Given the description of an element on the screen output the (x, y) to click on. 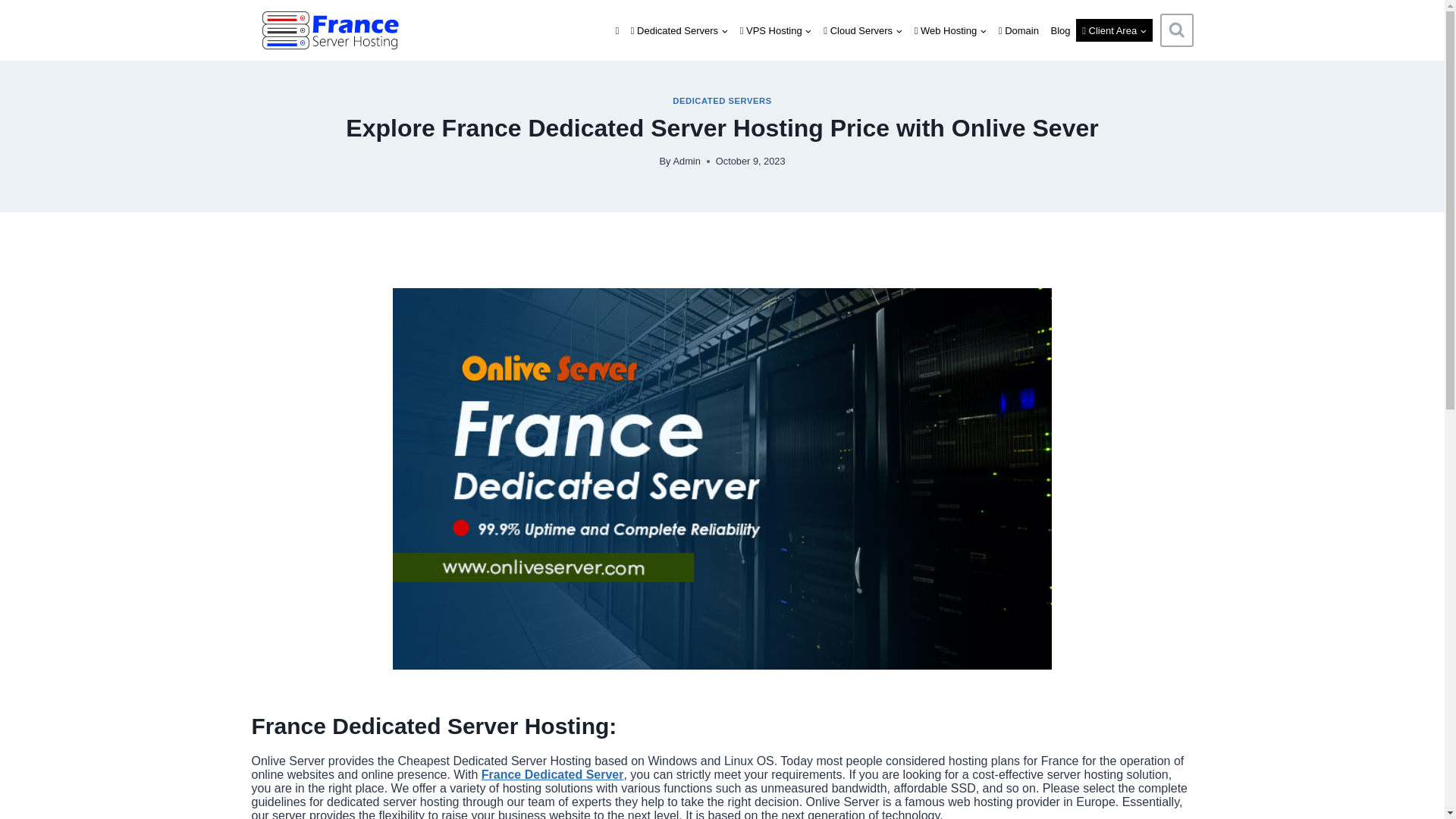
DEDICATED SERVERS (721, 100)
Web Hosting (950, 30)
Dedicated Servers (678, 30)
Client Area (1114, 30)
VPS Hosting (775, 30)
Blog (1061, 30)
France Dedicated Server (552, 774)
Admin (686, 161)
Cloud Servers (861, 30)
Domain (1018, 30)
